Given the description of an element on the screen output the (x, y) to click on. 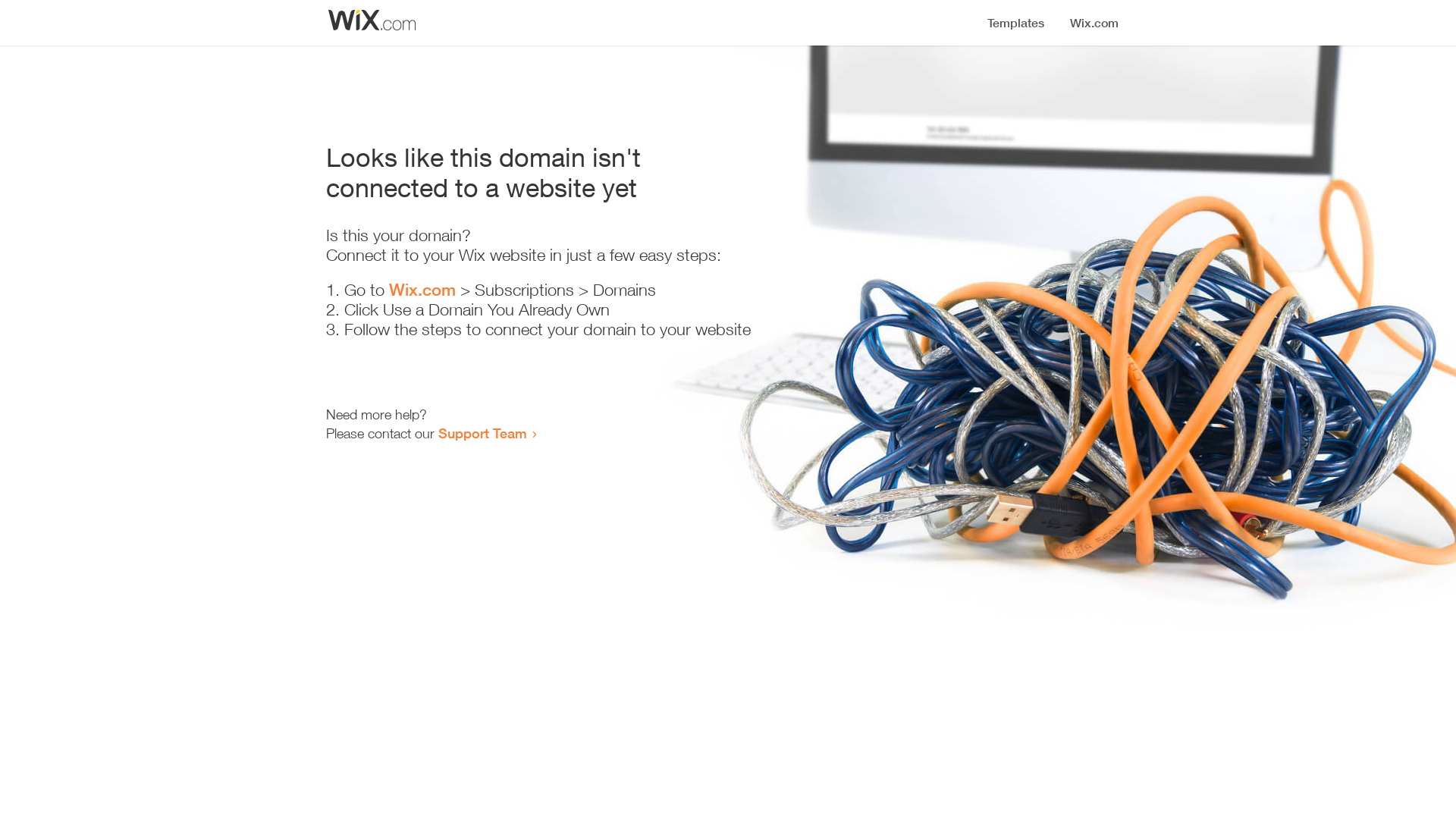
Support Team Element type: text (482, 432)
Wix.com Element type: text (422, 289)
